Given the description of an element on the screen output the (x, y) to click on. 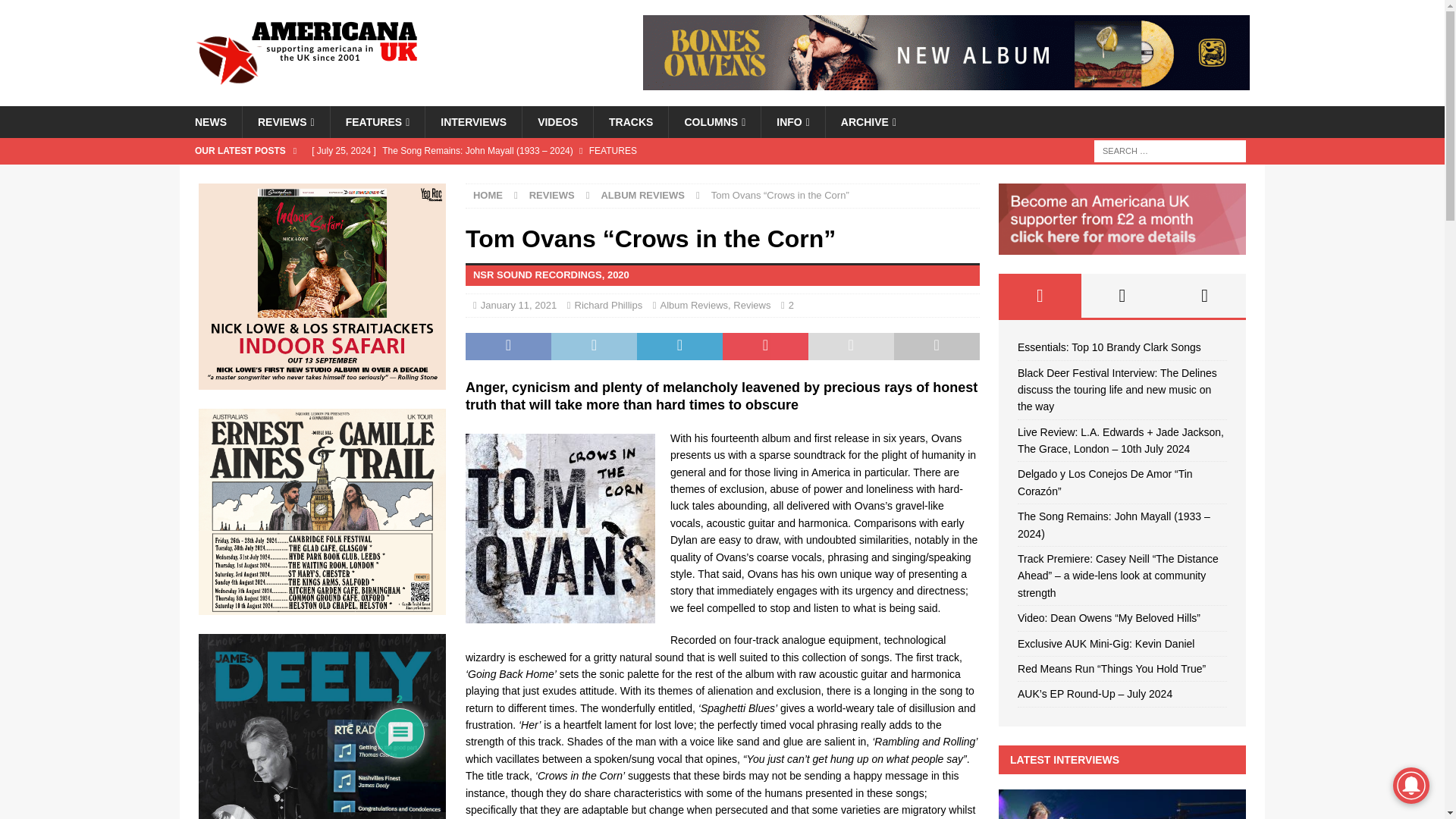
Essentials: Top 10 Brandy Clark Songs (595, 176)
